Given the description of an element on the screen output the (x, y) to click on. 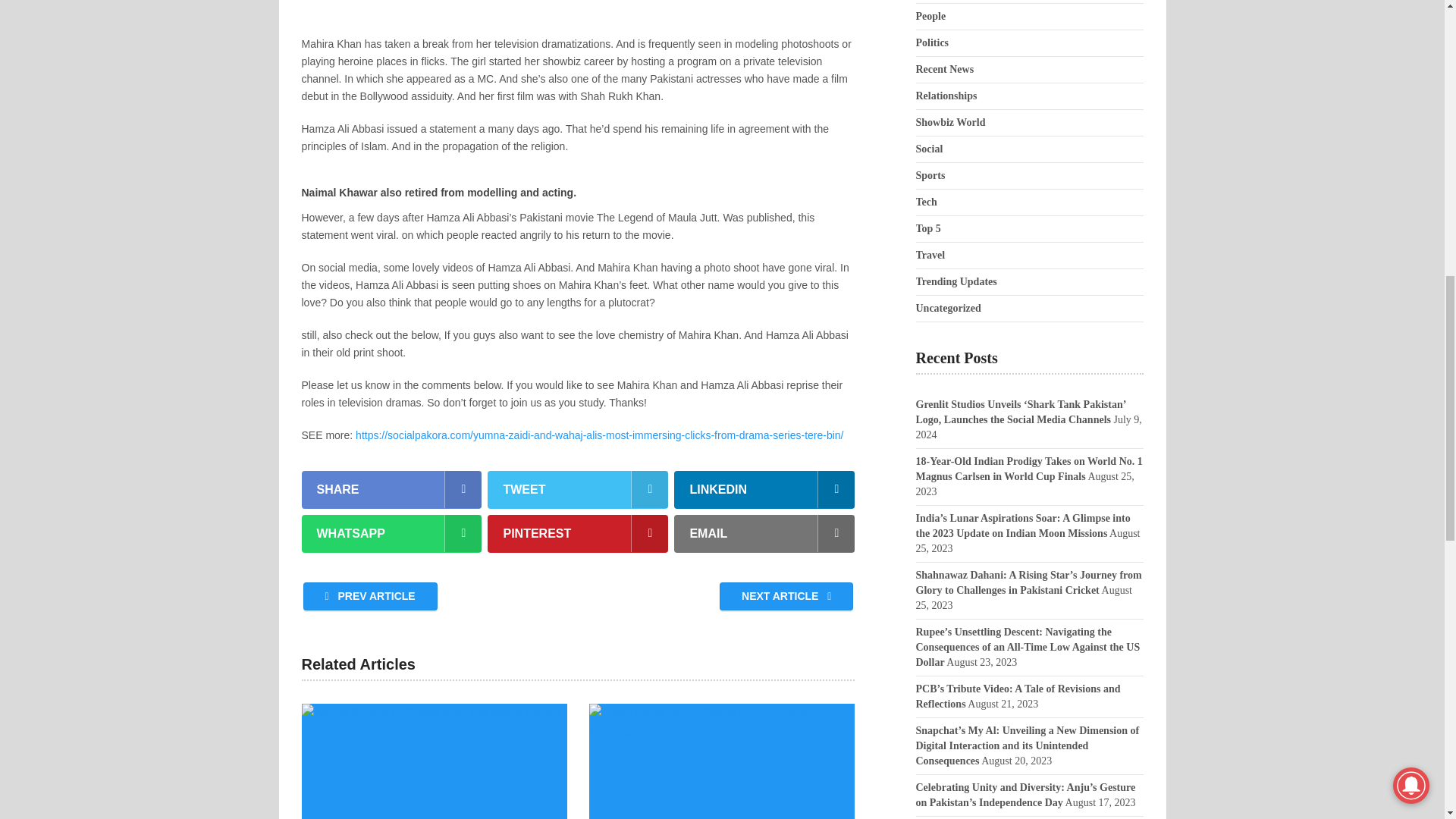
LINKEDIN (764, 489)
EMAIL (764, 533)
PINTEREST (577, 533)
NEXT ARTICLE (786, 596)
SHARE (391, 489)
TWEET (577, 489)
PREV ARTICLE (370, 596)
Advertisement (578, 18)
What Ties Do Winter Storms Have to Global Warming? (721, 761)
Walima filmland of Shadab Khan and Malika Saqlain out now (434, 761)
WHATSAPP (391, 533)
